Given the description of an element on the screen output the (x, y) to click on. 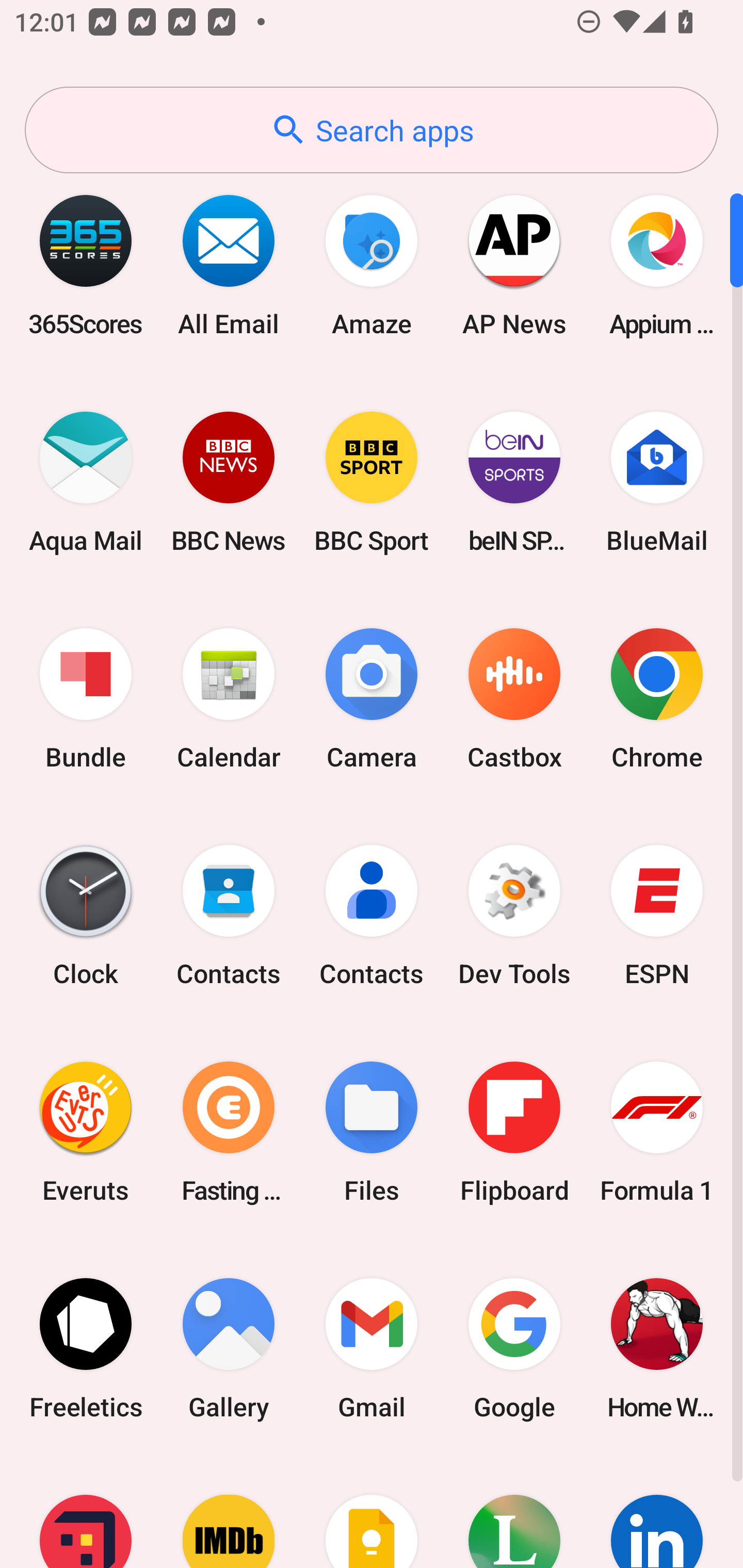
  Search apps (371, 130)
365Scores (85, 264)
All Email (228, 264)
Amaze (371, 264)
AP News (514, 264)
Appium Settings (656, 264)
Aqua Mail (85, 482)
BBC News (228, 482)
BBC Sport (371, 482)
beIN SPORTS (514, 482)
BlueMail (656, 482)
Bundle (85, 699)
Calendar (228, 699)
Camera (371, 699)
Castbox (514, 699)
Chrome (656, 699)
Clock (85, 915)
Contacts (228, 915)
Contacts (371, 915)
Dev Tools (514, 915)
ESPN (656, 915)
Everuts (85, 1131)
Fasting Coach (228, 1131)
Files (371, 1131)
Flipboard (514, 1131)
Formula 1 (656, 1131)
Freeletics (85, 1348)
Gallery (228, 1348)
Gmail (371, 1348)
Google (514, 1348)
Home Workout (656, 1348)
Hotels.com (85, 1512)
IMDb (228, 1512)
Keep Notes (371, 1512)
Lifesum (514, 1512)
LinkedIn (656, 1512)
